Given the description of an element on the screen output the (x, y) to click on. 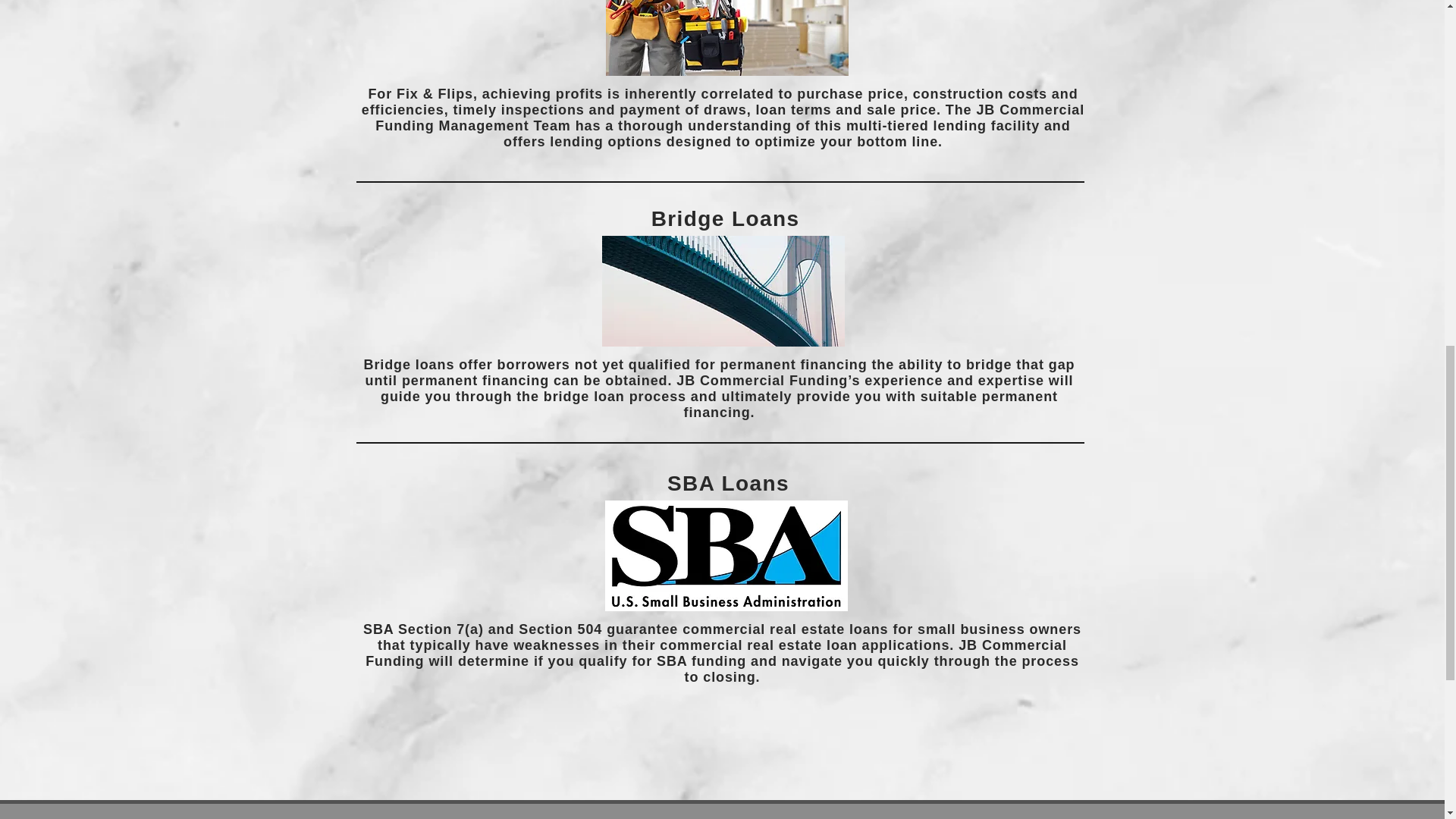
Contractor (726, 555)
Contractor (723, 290)
Contractor (726, 38)
